Given the description of an element on the screen output the (x, y) to click on. 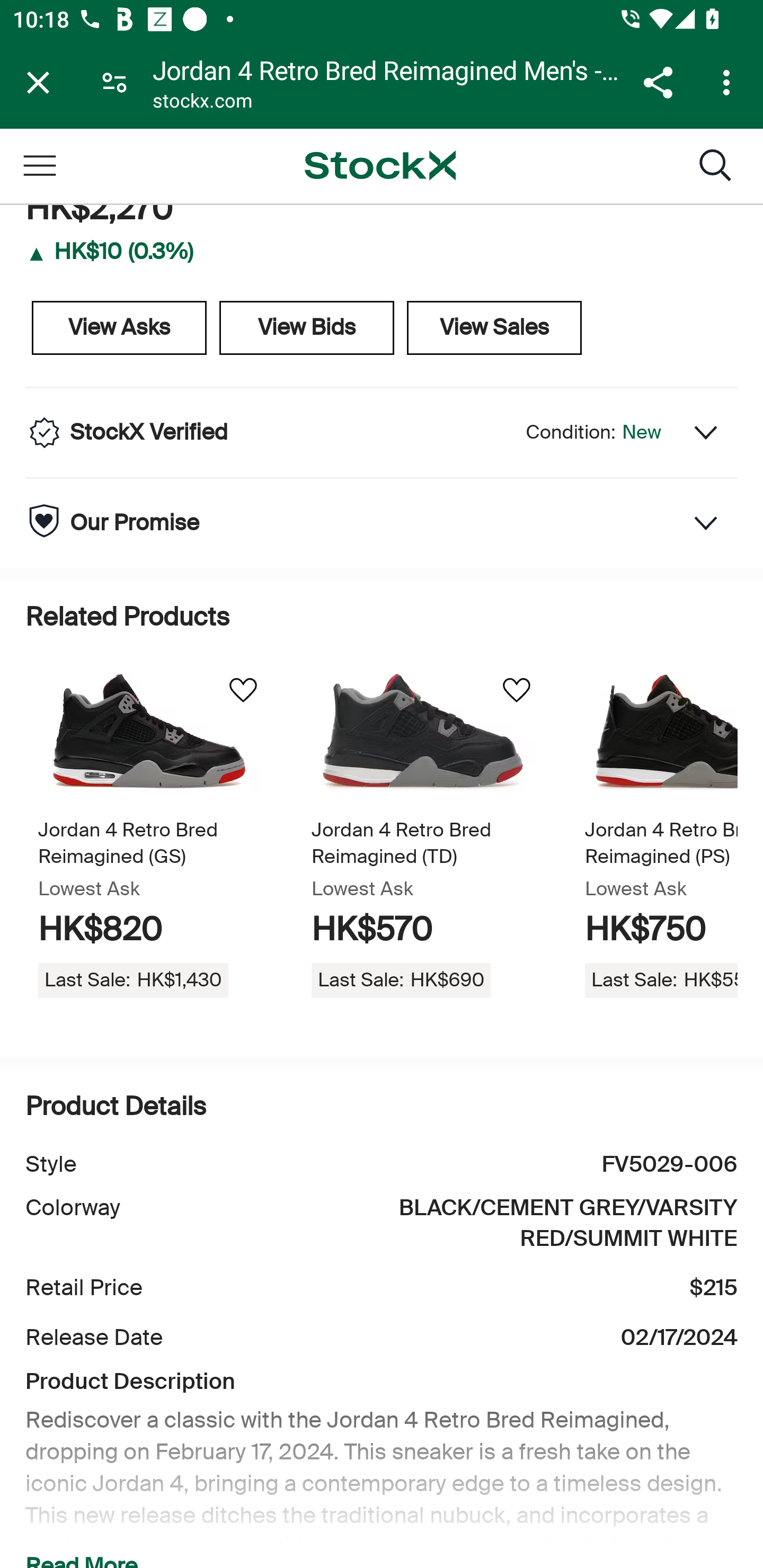
Close tab (38, 82)
Share (657, 82)
Customize and control Google Chrome (729, 82)
Connection is secure (114, 81)
stockx.com (202, 103)
